Given the description of an element on the screen output the (x, y) to click on. 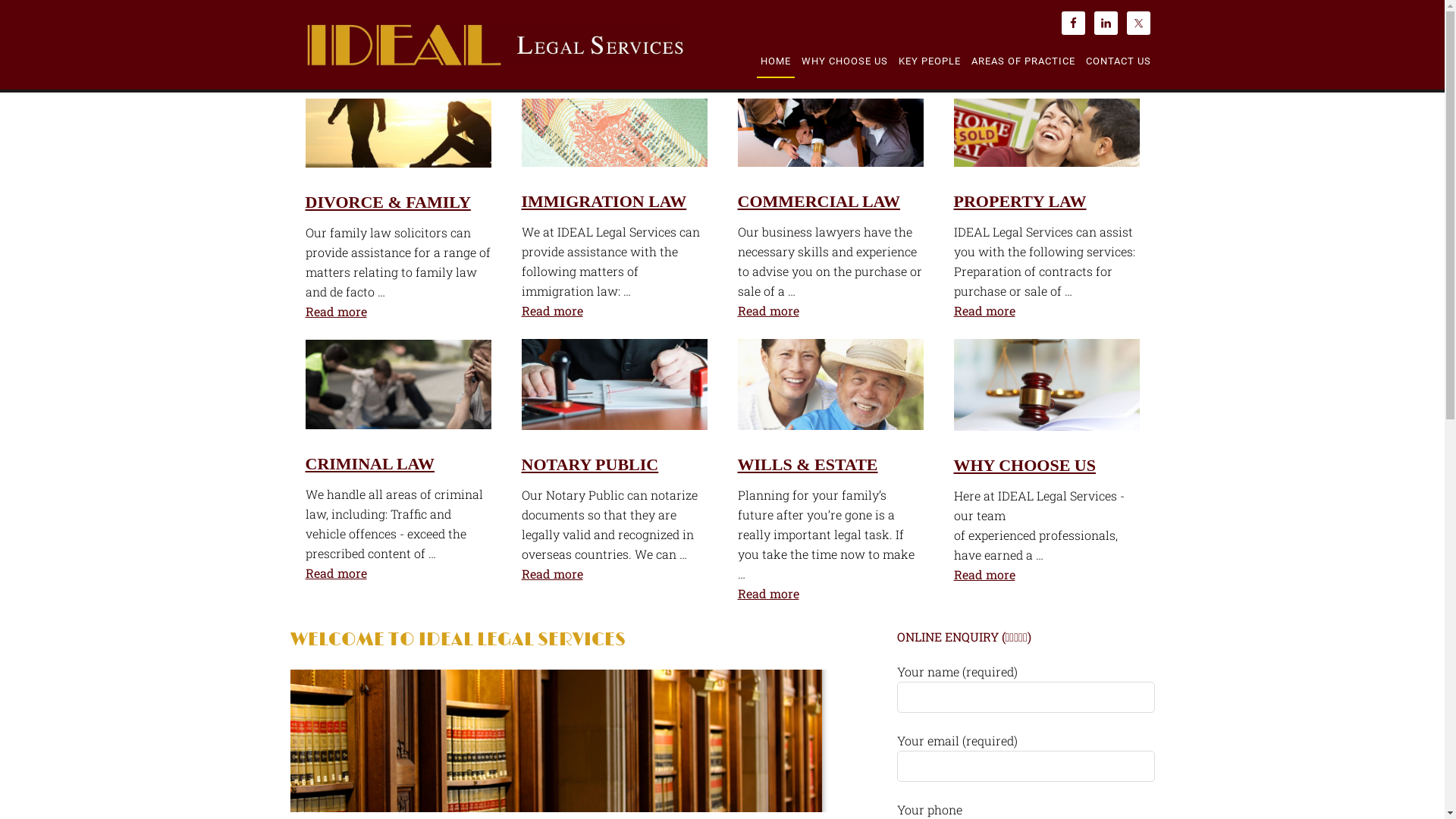
IMMIGRATION LAW Element type: text (604, 200)
Ideal Legal Services Element type: hover (494, 57)
COMMERCIAL LAW Element type: text (818, 200)
Read more Element type: text (397, 311)
Read more Element type: text (1046, 310)
AREAS OF PRACTICE Element type: text (1023, 61)
WHY CHOOSE US Element type: text (1024, 464)
PROPERTY LAW Element type: text (1019, 200)
WILLS & ESTATE Element type: text (807, 464)
Read more Element type: text (1046, 574)
DIVORCE & FAMILY Element type: text (387, 201)
Read more Element type: text (397, 573)
CONTACT US Element type: text (1117, 61)
HOME Element type: text (775, 62)
Read more Element type: text (614, 573)
WHY CHOOSE US Element type: text (844, 61)
KEY PEOPLE Element type: text (929, 61)
Read more Element type: text (829, 310)
Read more Element type: text (614, 310)
CRIMINAL LAW Element type: text (369, 463)
NOTARY PUBLIC Element type: text (589, 464)
Read more Element type: text (829, 593)
